Given the description of an element on the screen output the (x, y) to click on. 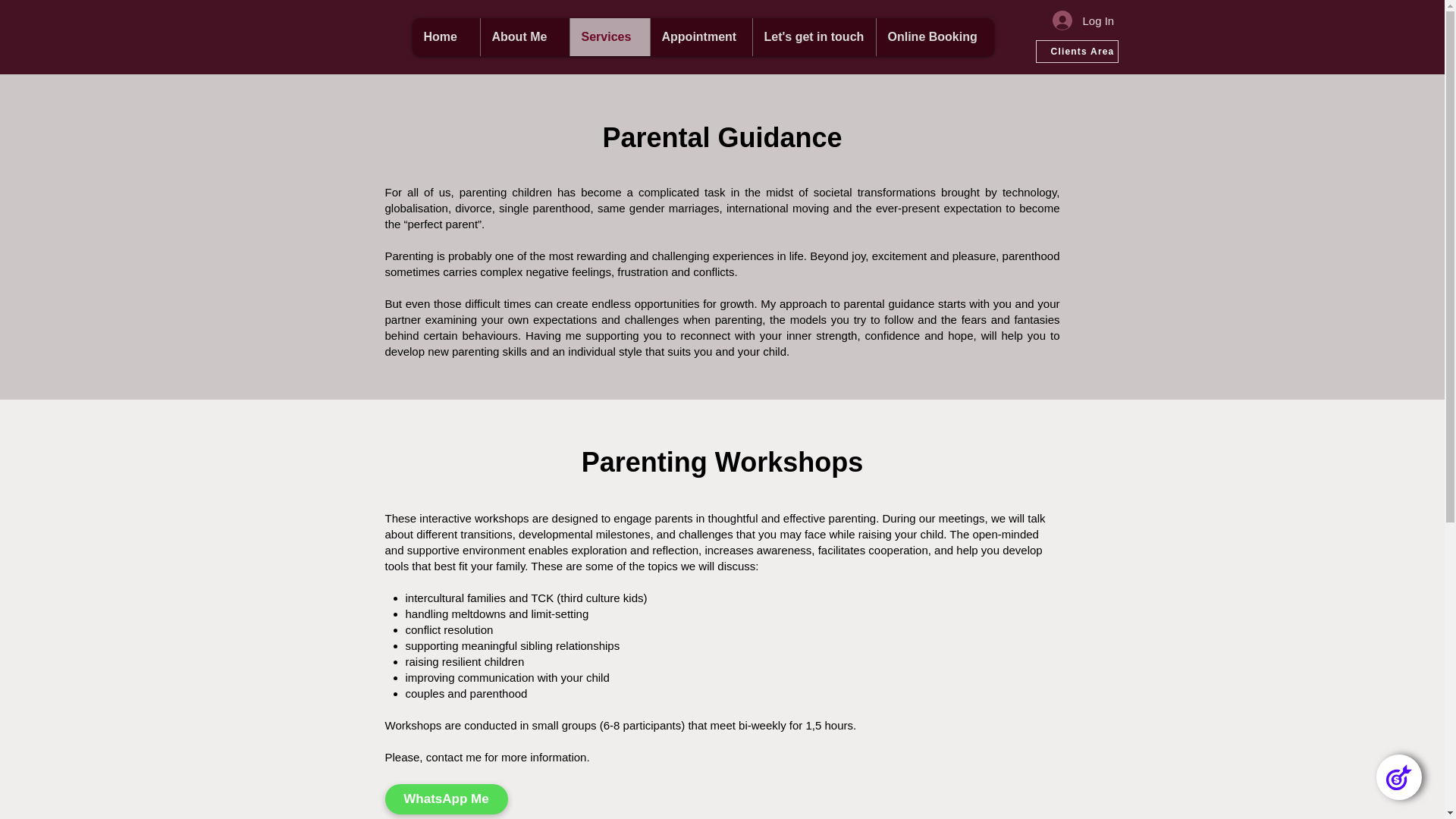
Services (609, 37)
Home (446, 37)
About Me (524, 37)
Appointment (700, 37)
Online Booking (933, 37)
Let's get in touch (814, 37)
WhatsApp Me (446, 798)
Clients Area (1076, 51)
Log In (1080, 20)
